Given the description of an element on the screen output the (x, y) to click on. 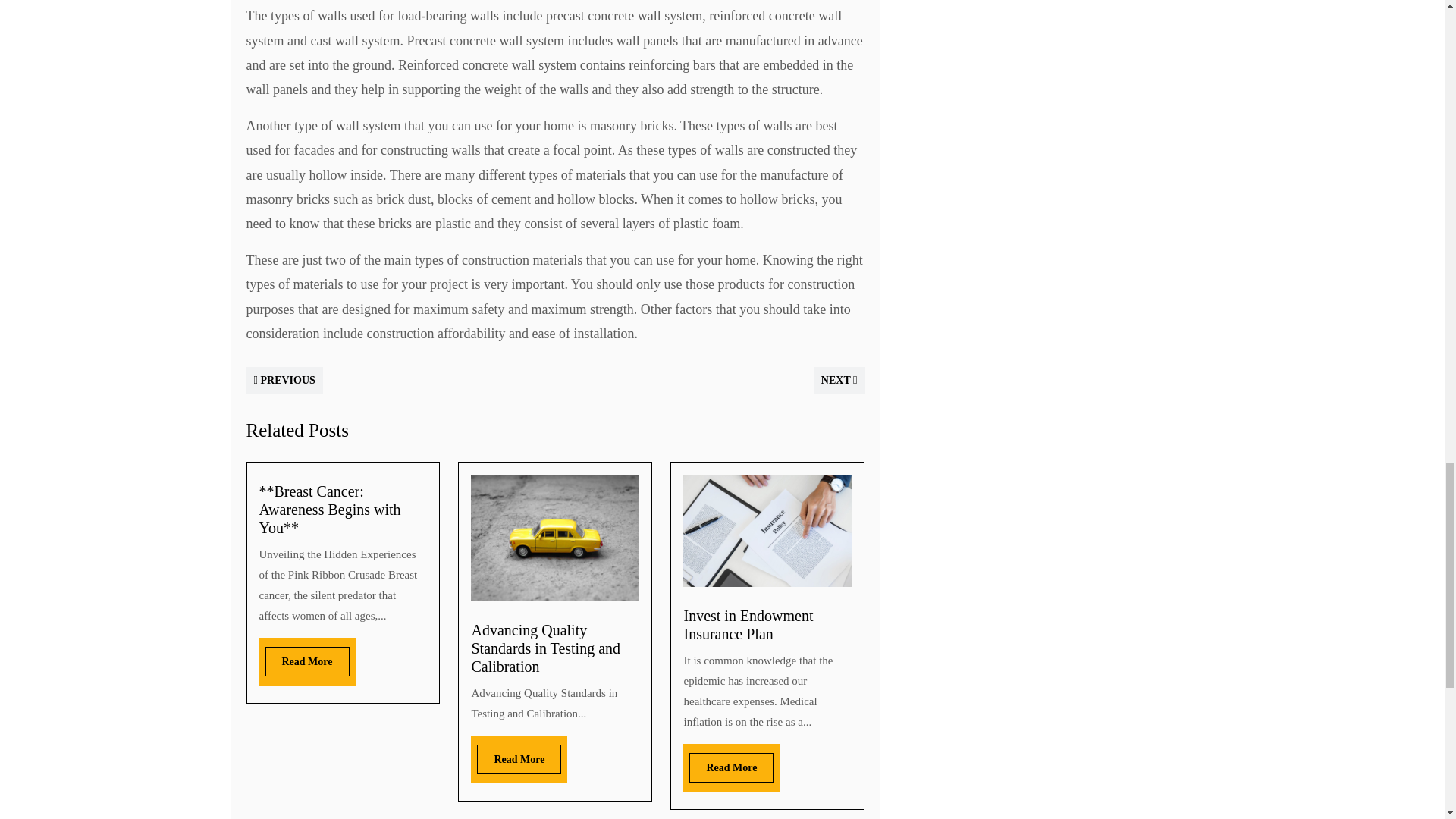
Read More (306, 661)
Read More (518, 758)
Read More (730, 767)
